Given the description of an element on the screen output the (x, y) to click on. 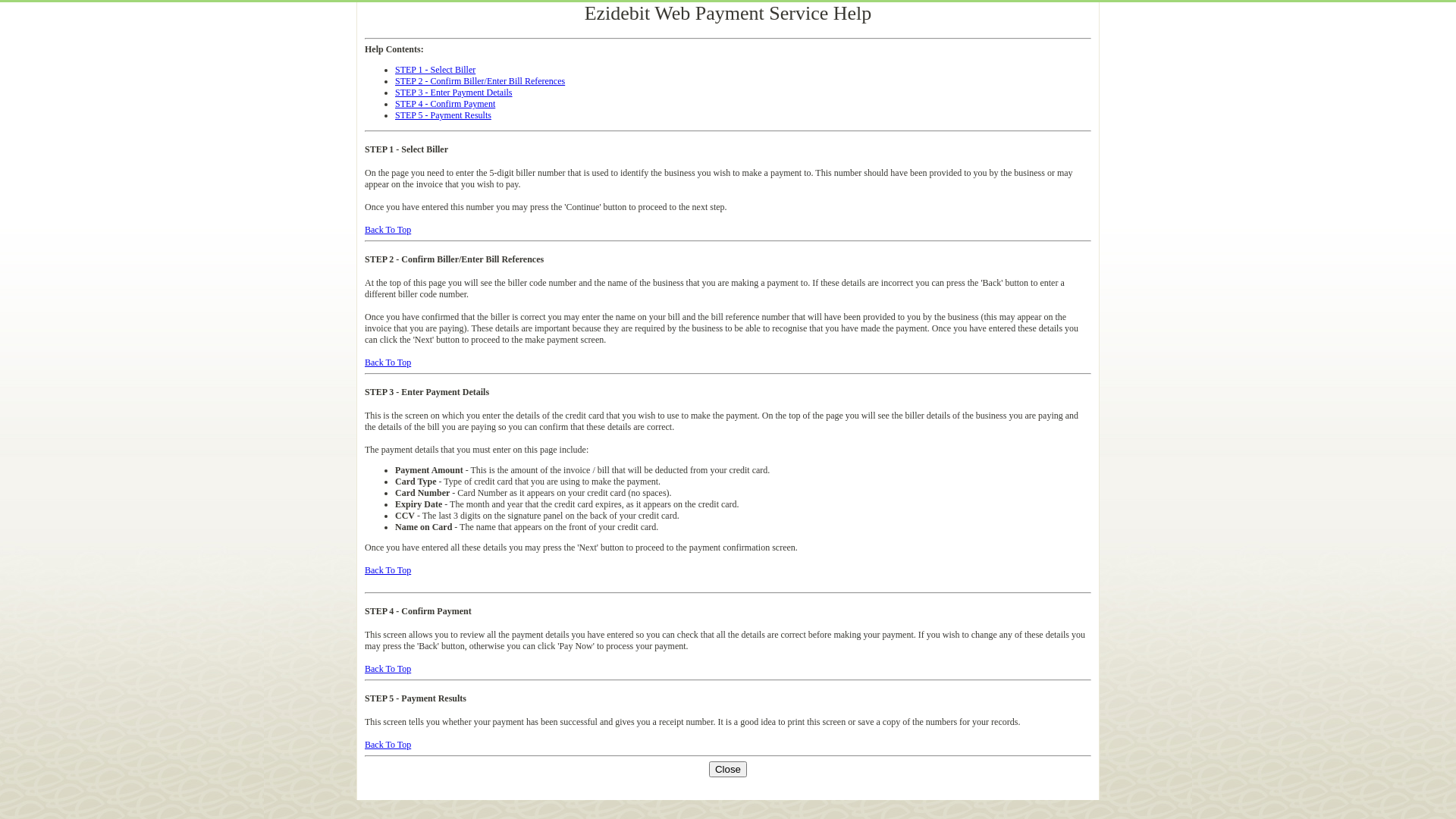
Back To Top Element type: text (387, 569)
STEP 3 - Enter Payment Details Element type: text (453, 92)
Back To Top Element type: text (387, 362)
Close Element type: text (727, 769)
STEP 5 - Payment Results Element type: text (443, 114)
STEP 4 - Confirm Payment Element type: text (445, 103)
Back To Top Element type: text (387, 229)
STEP 1 - Select Biller Element type: text (435, 69)
Back To Top Element type: text (387, 668)
STEP 2 - Confirm Biller/Enter Bill References Element type: text (479, 80)
Back To Top Element type: text (387, 744)
